Given the description of an element on the screen output the (x, y) to click on. 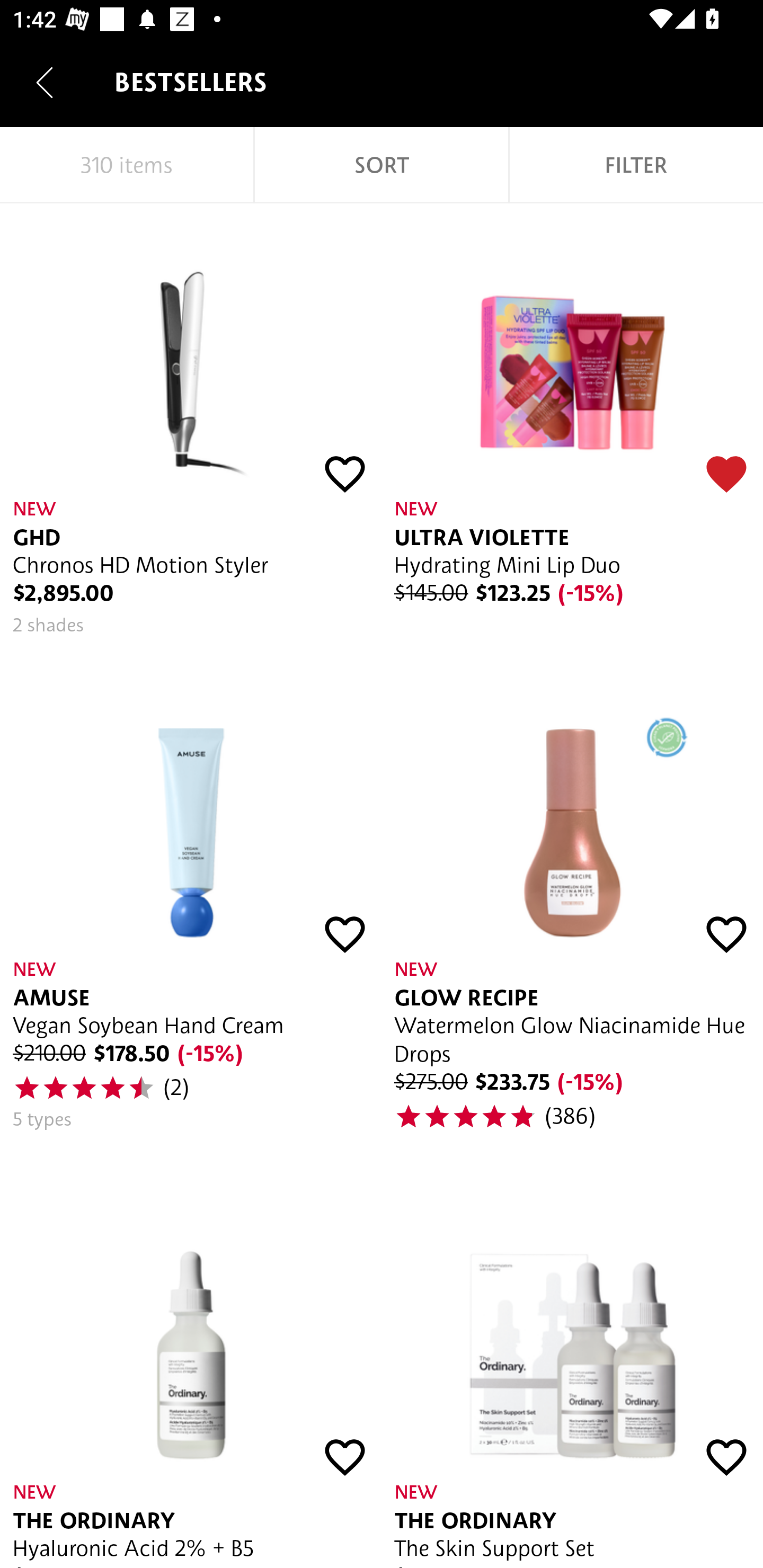
Navigate up (44, 82)
SORT (381, 165)
FILTER (636, 165)
NEW THE ORDINARY Hyaluronic Acid 2% + B5 $143.00 (190, 1370)
NEW THE ORDINARY The Skin Support Set $109.00 (572, 1370)
